Given the description of an element on the screen output the (x, y) to click on. 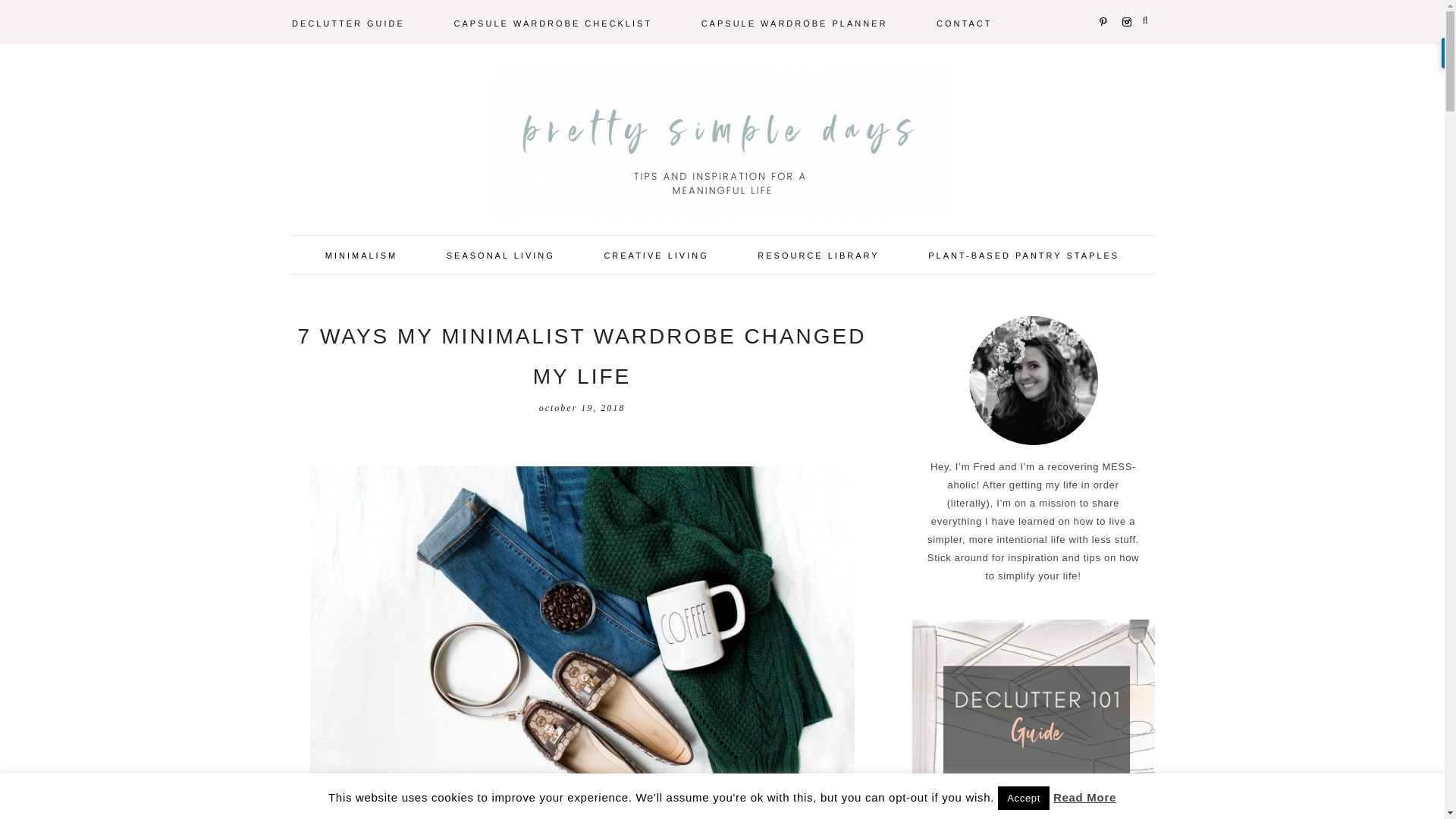
CONTACT (964, 22)
CAPSULE WARDROBE PLANNER (794, 22)
RESOURCE LIBRARY (818, 253)
Instagram (1125, 1)
PLANT-BASED PANTRY STAPLES (1023, 253)
Pinterest (1103, 1)
DECLUTTER GUIDE (348, 22)
SEASONAL LIVING (500, 253)
CAPSULE WARDROBE CHECKLIST (552, 22)
CREATIVE LIVING (655, 253)
MINIMALISM (361, 253)
